Given the description of an element on the screen output the (x, y) to click on. 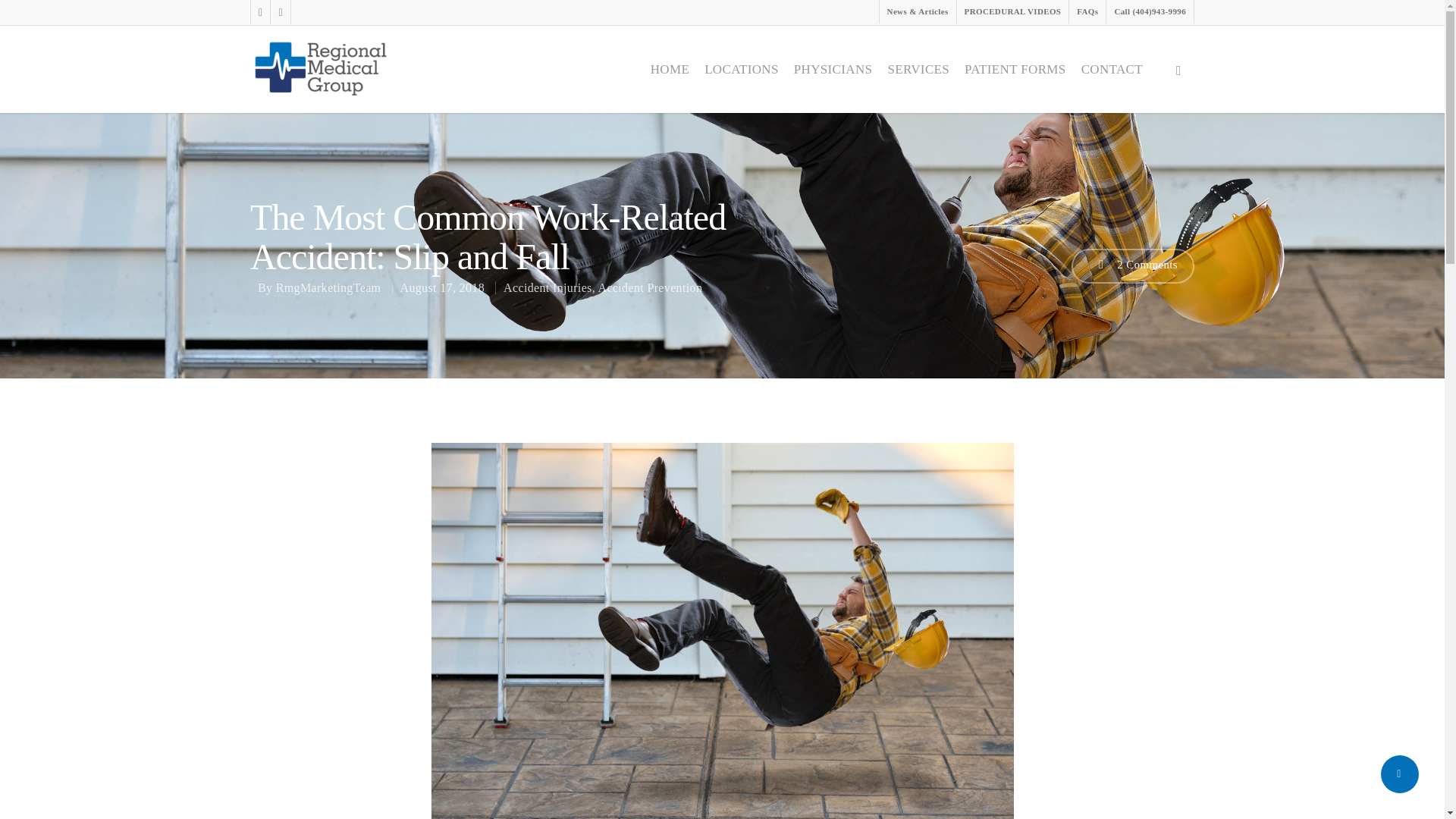
RmgMarketingTeam (328, 287)
PHYSICIANS (832, 69)
SERVICES (917, 69)
PATIENT FORMS (1014, 69)
2 Comments (1132, 265)
FAQs (1086, 11)
Accident Prevention (650, 287)
Accident Injuries (547, 287)
LOCATIONS (741, 69)
PROCEDURAL VIDEOS (1012, 11)
